Given the description of an element on the screen output the (x, y) to click on. 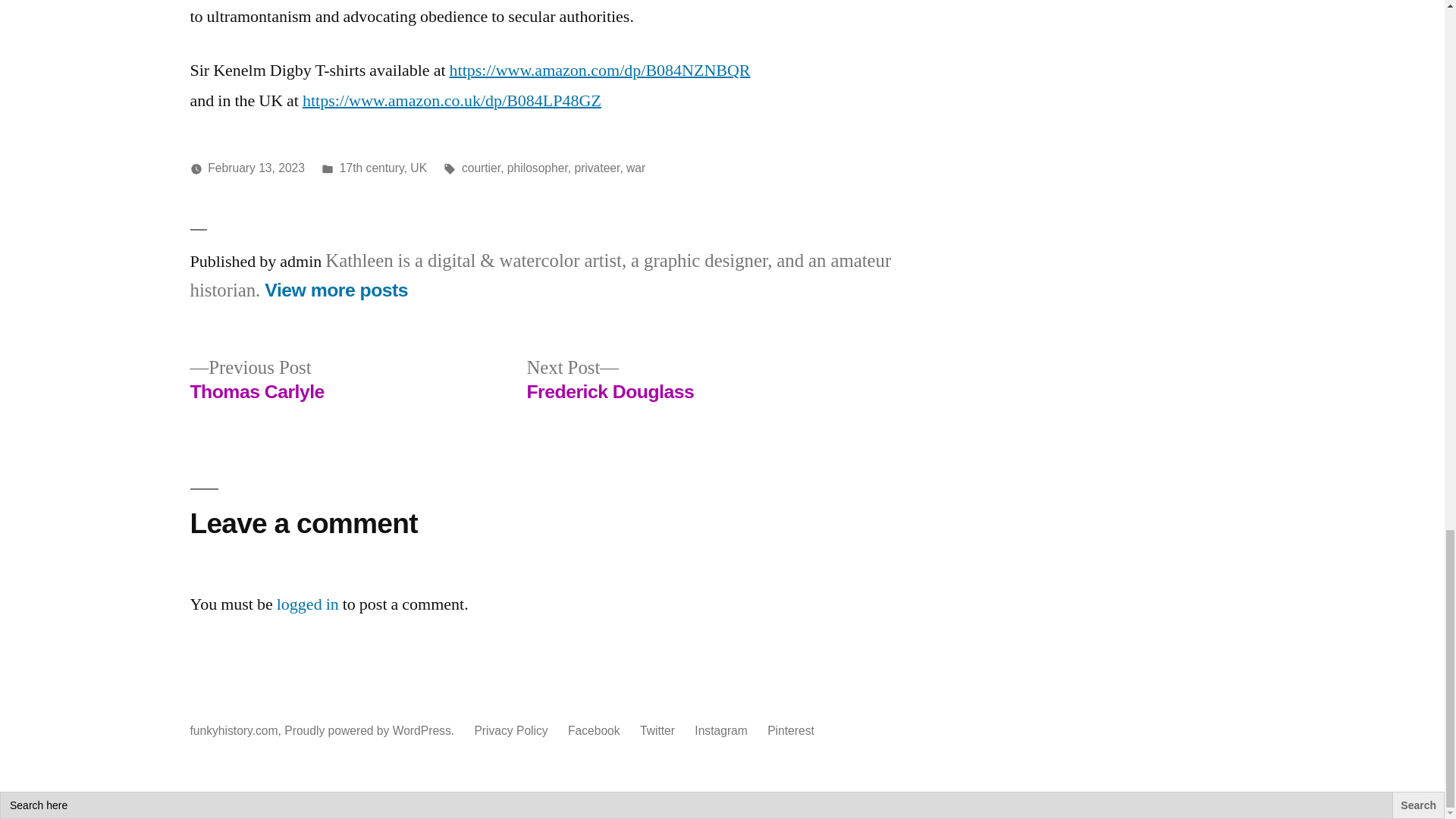
Proudly powered by WordPress. (370, 730)
war (635, 167)
17th century (371, 167)
funkyhistory.com (233, 730)
February 13, 2023 (256, 167)
View more posts (335, 290)
courtier (480, 167)
UK (418, 167)
philosopher (536, 167)
privateer (596, 167)
